Given the description of an element on the screen output the (x, y) to click on. 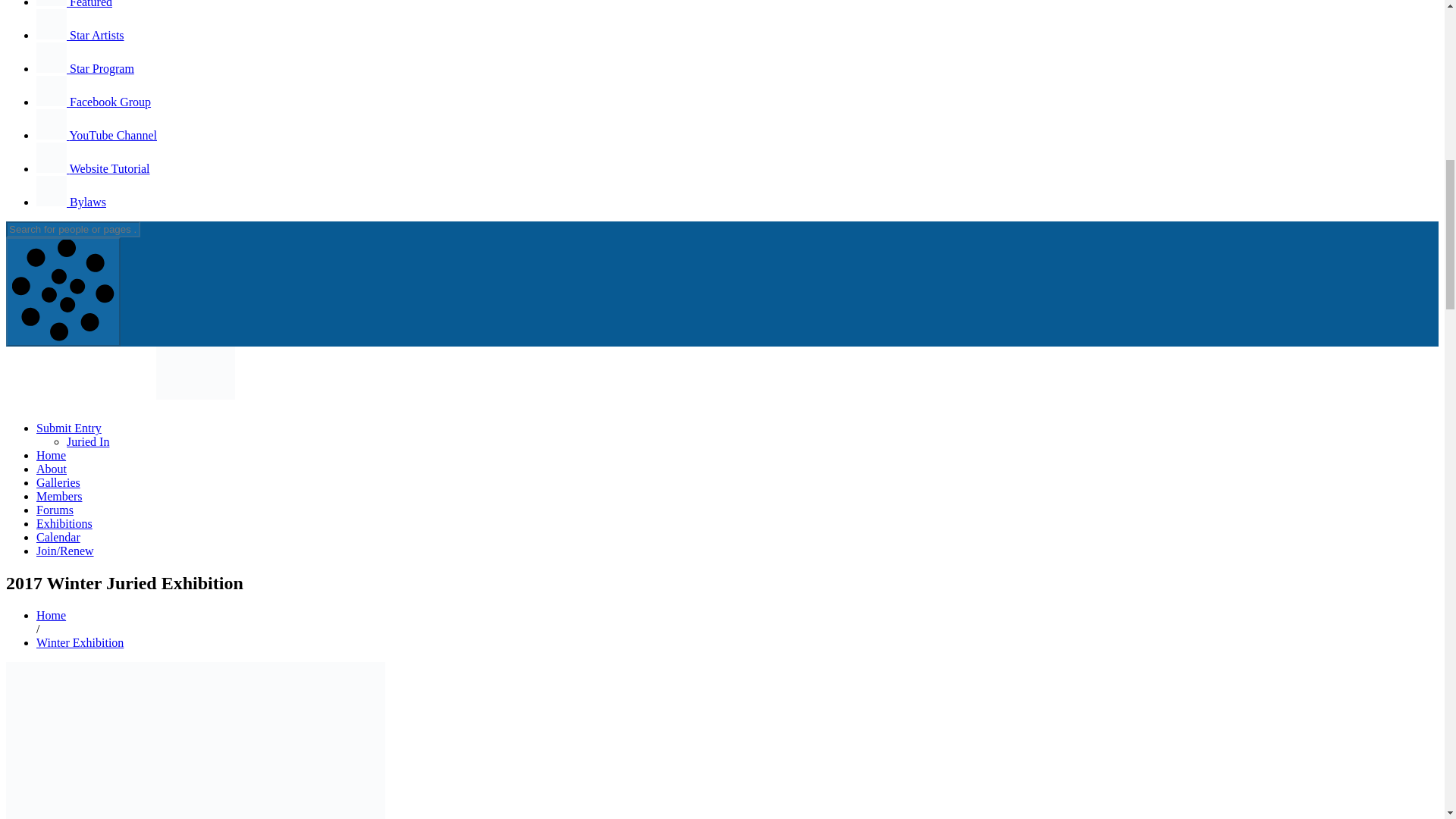
YouTube Channel (96, 134)
Juried In (87, 440)
Bylaws (71, 201)
Calendar (58, 536)
Exhibitions (64, 522)
Featured (74, 4)
About (51, 468)
Facebook Group (93, 101)
Star Program (84, 68)
Home (50, 454)
Forums (55, 509)
Galleries (58, 481)
Submit Entry (68, 427)
Members (58, 495)
Website Tutorial (92, 168)
